Given the description of an element on the screen output the (x, y) to click on. 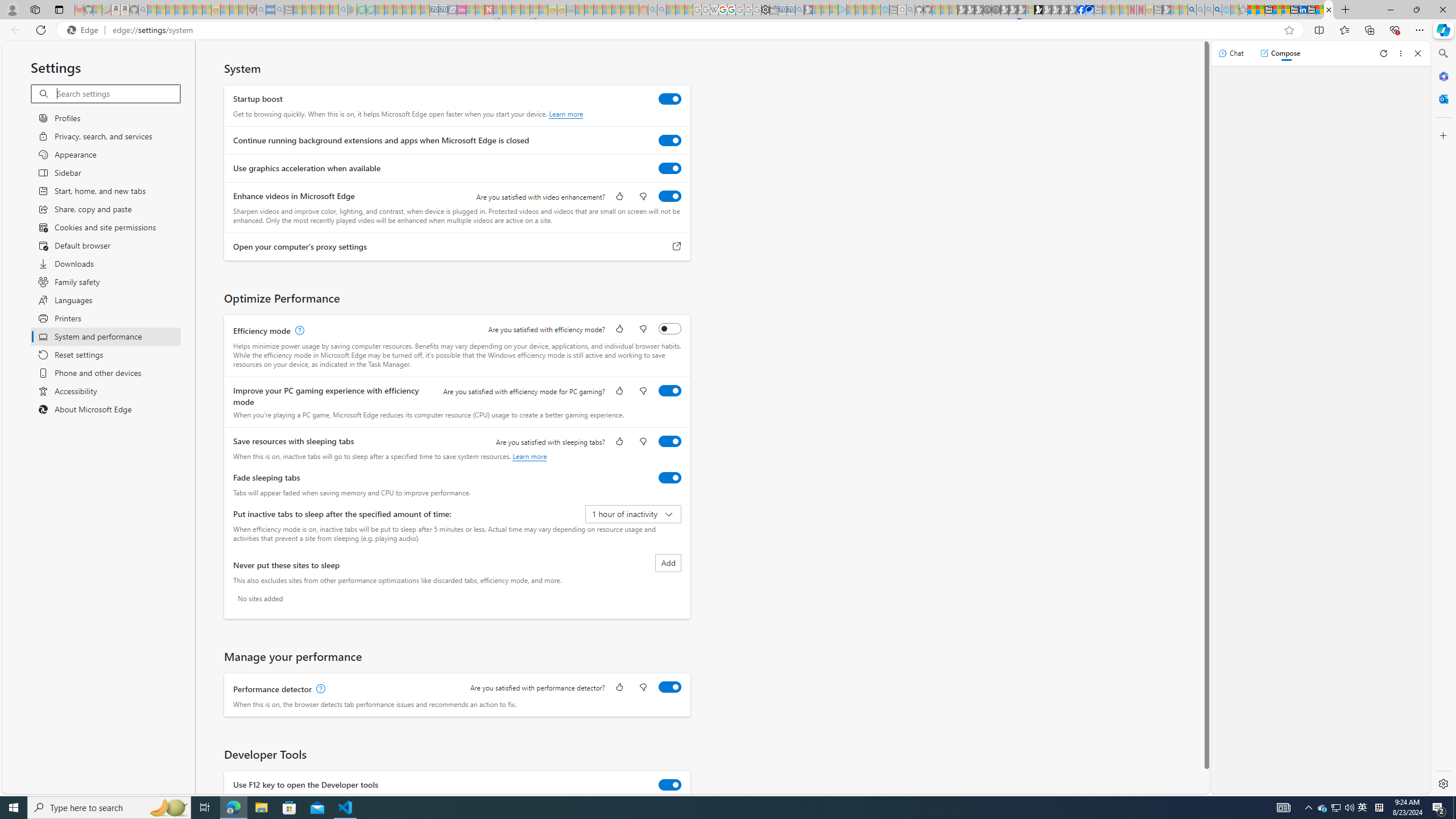
Aberdeen, Hong Kong SAR weather forecast | Microsoft Weather (1259, 9)
Chat (1230, 52)
Use F12 key to open the Developer tools (669, 784)
